Given the description of an element on the screen output the (x, y) to click on. 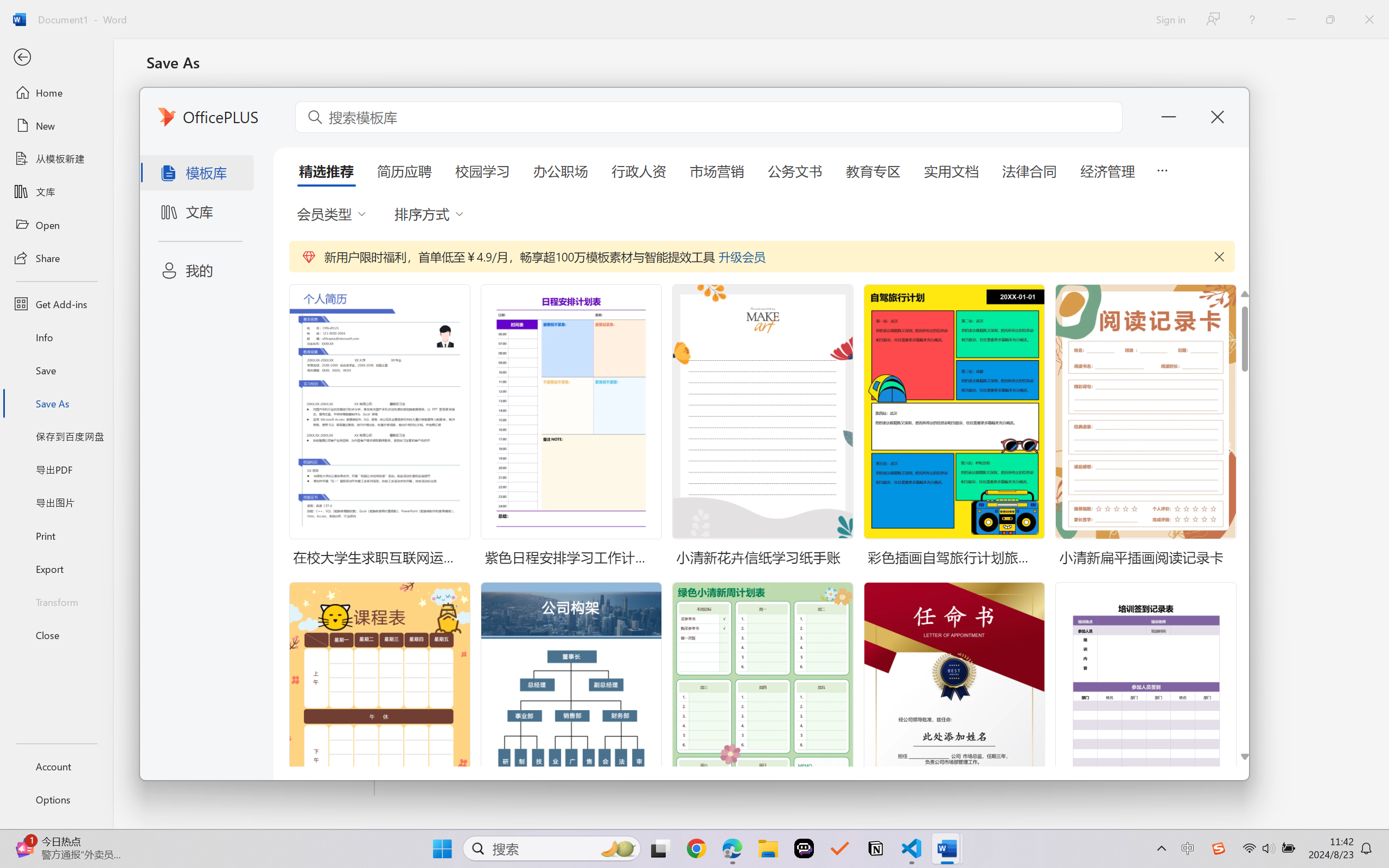
Print (56, 535)
Get Add-ins (56, 303)
